Given the description of an element on the screen output the (x, y) to click on. 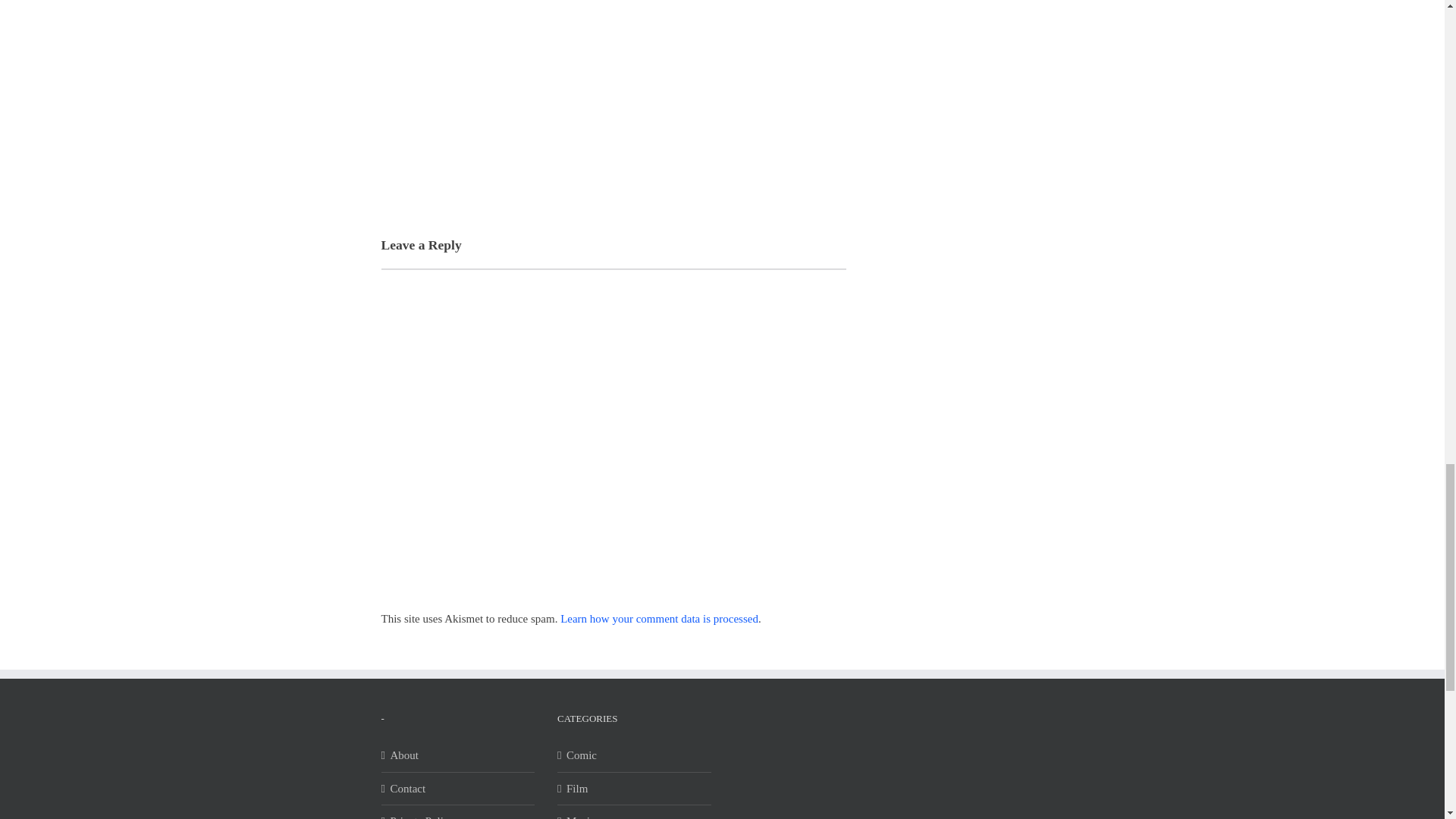
About (458, 755)
Contact (458, 788)
Private Policy (458, 816)
Film (634, 788)
Learn how your comment data is processed (659, 618)
Comic (634, 755)
Music (634, 816)
